Given the description of an element on the screen output the (x, y) to click on. 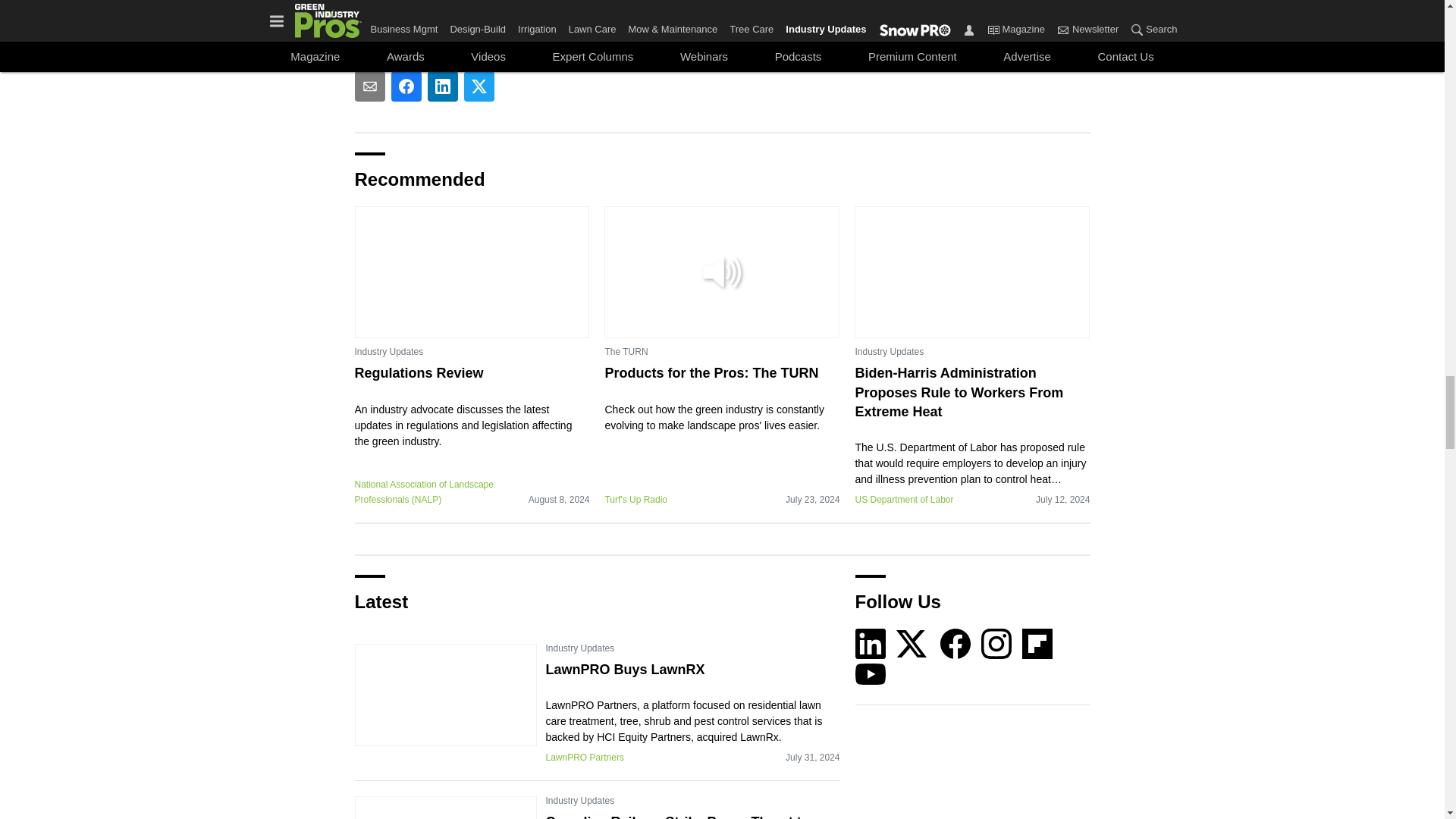
Flipboard icon (1037, 643)
YouTube icon (870, 674)
Share To facebook (406, 86)
Share To twitter (479, 86)
Share To linkedin (443, 86)
Instagram icon (996, 643)
Twitter X icon (911, 643)
Facebook icon (955, 643)
Share To email (370, 86)
LinkedIn icon (870, 643)
